Given the description of an element on the screen output the (x, y) to click on. 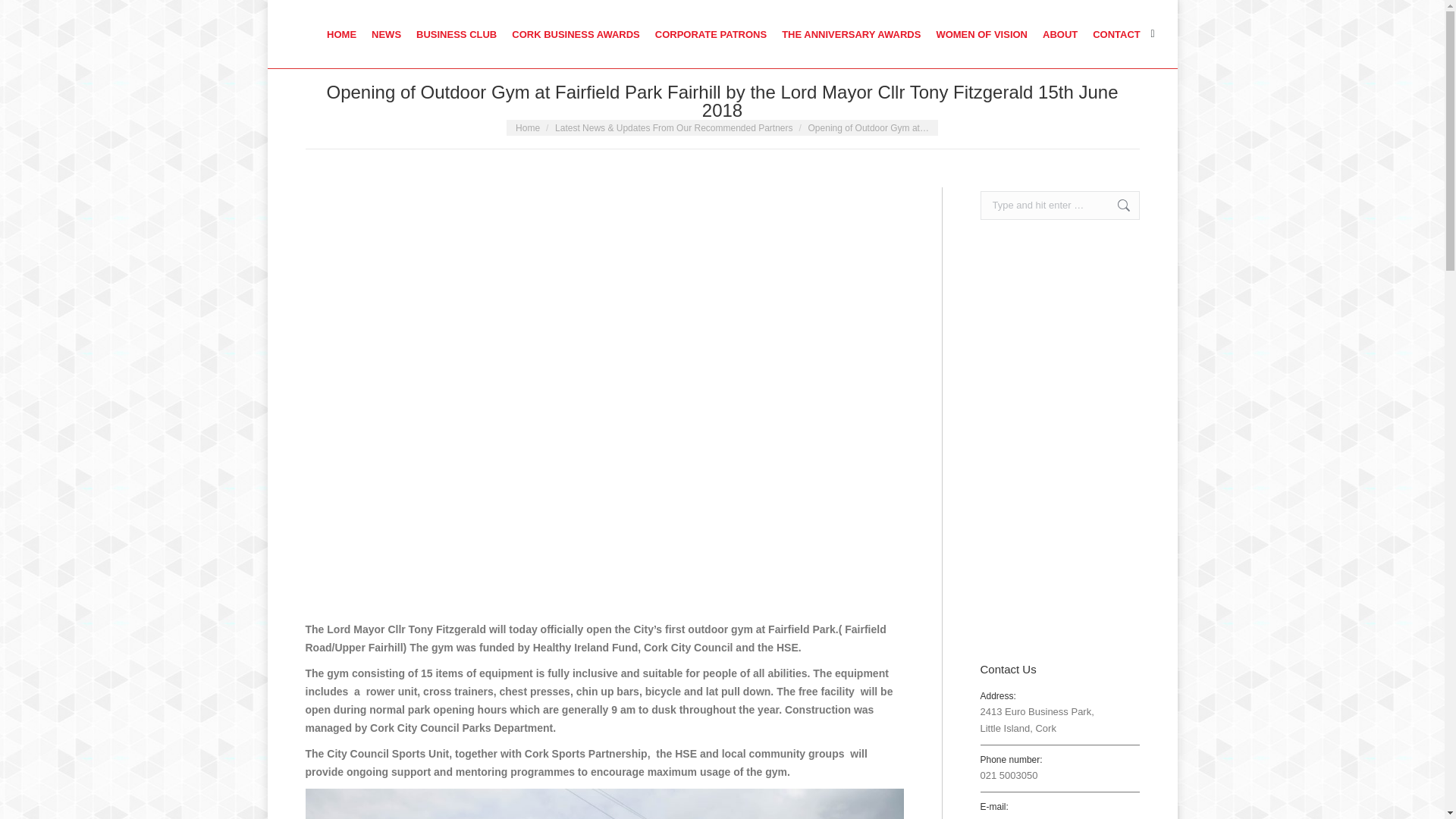
THE ANNIVERSARY AWARDS (850, 33)
BUSINESS CLUB (456, 33)
Home (527, 127)
Go! (22, 15)
CORK BUSINESS AWARDS (575, 33)
WOMEN OF VISION (980, 33)
Go! (1115, 205)
Go! (1115, 205)
CORPORATE PATRONS (710, 33)
Home (527, 127)
